Given the description of an element on the screen output the (x, y) to click on. 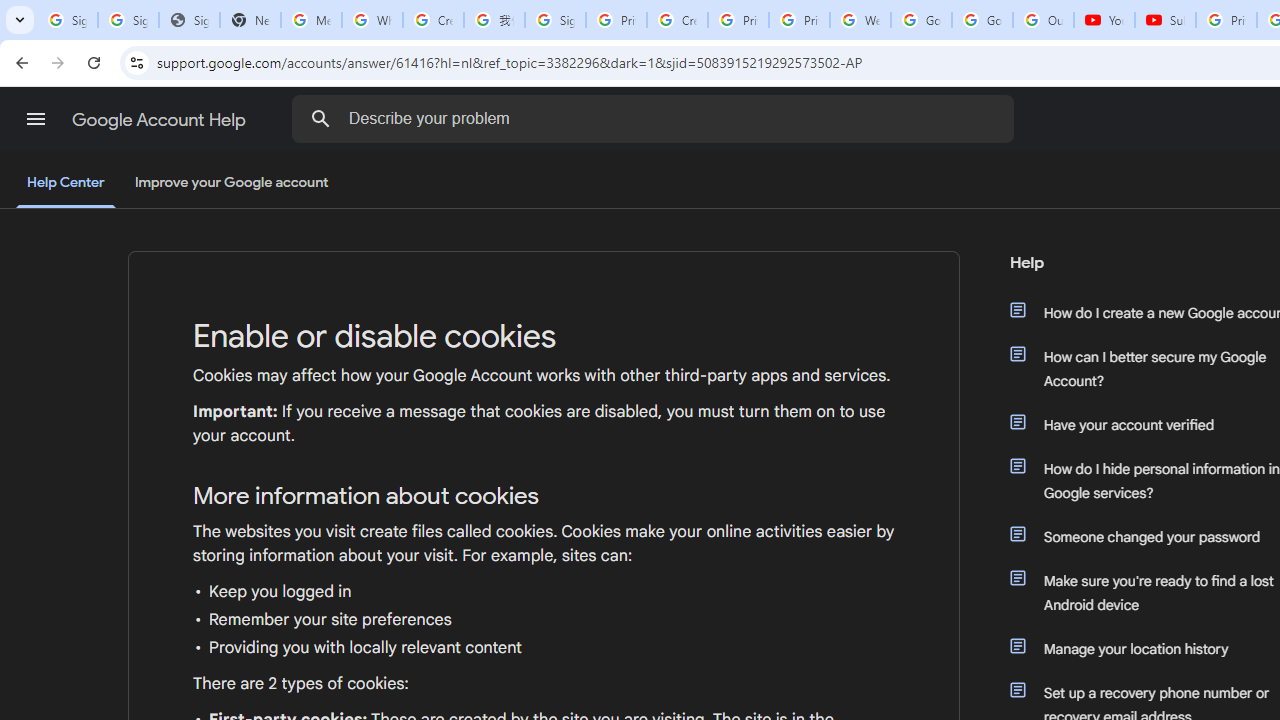
Subscriptions - YouTube (1165, 20)
Create your Google Account (676, 20)
YouTube (1104, 20)
Sign in - Google Accounts (67, 20)
Sign in - Google Accounts (128, 20)
Welcome to My Activity (859, 20)
New Tab (250, 20)
Main menu (35, 119)
Create your Google Account (433, 20)
